Given the description of an element on the screen output the (x, y) to click on. 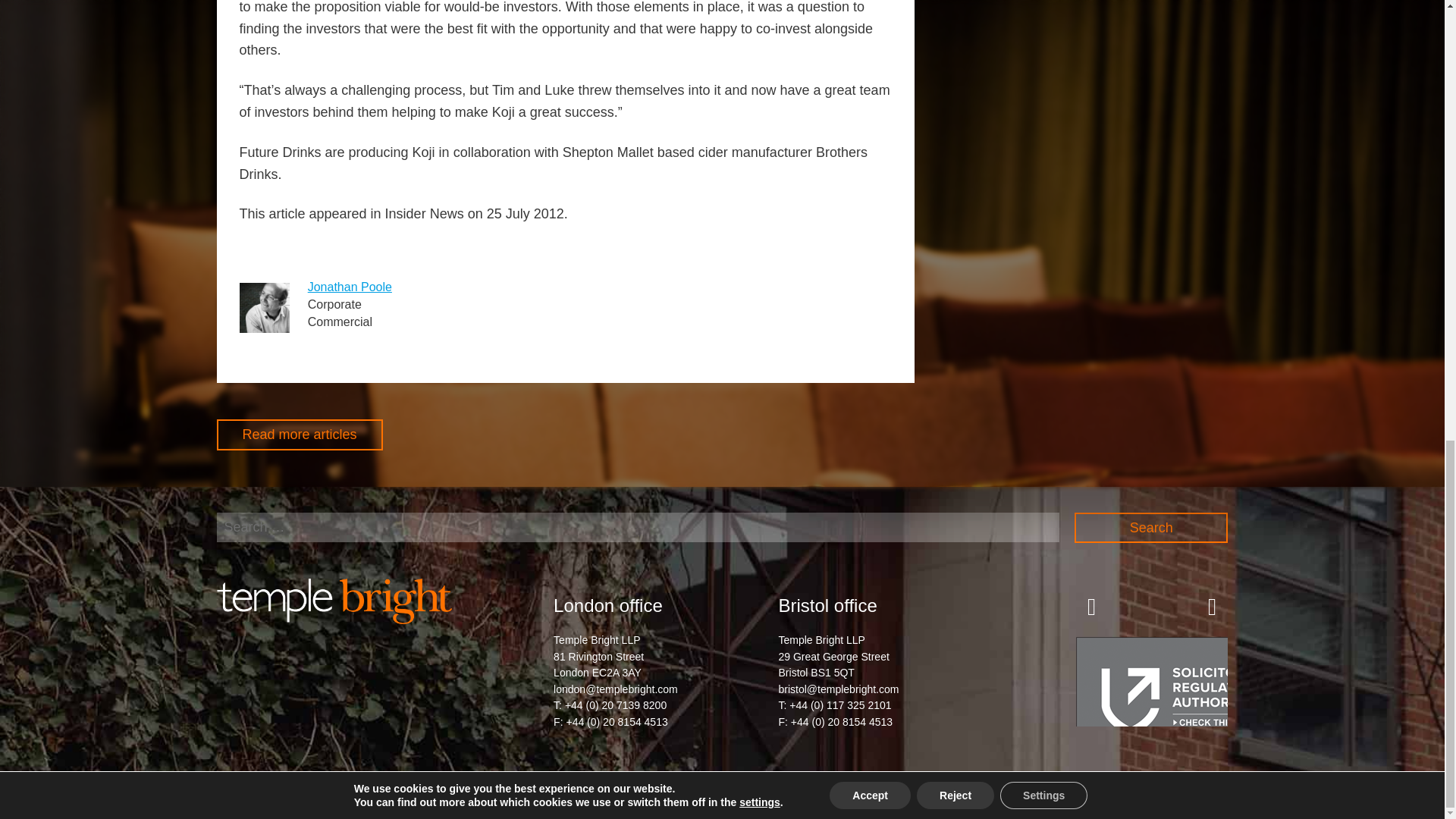
Read more articles (299, 434)
Jonathan Poole (349, 286)
